Given the description of an element on the screen output the (x, y) to click on. 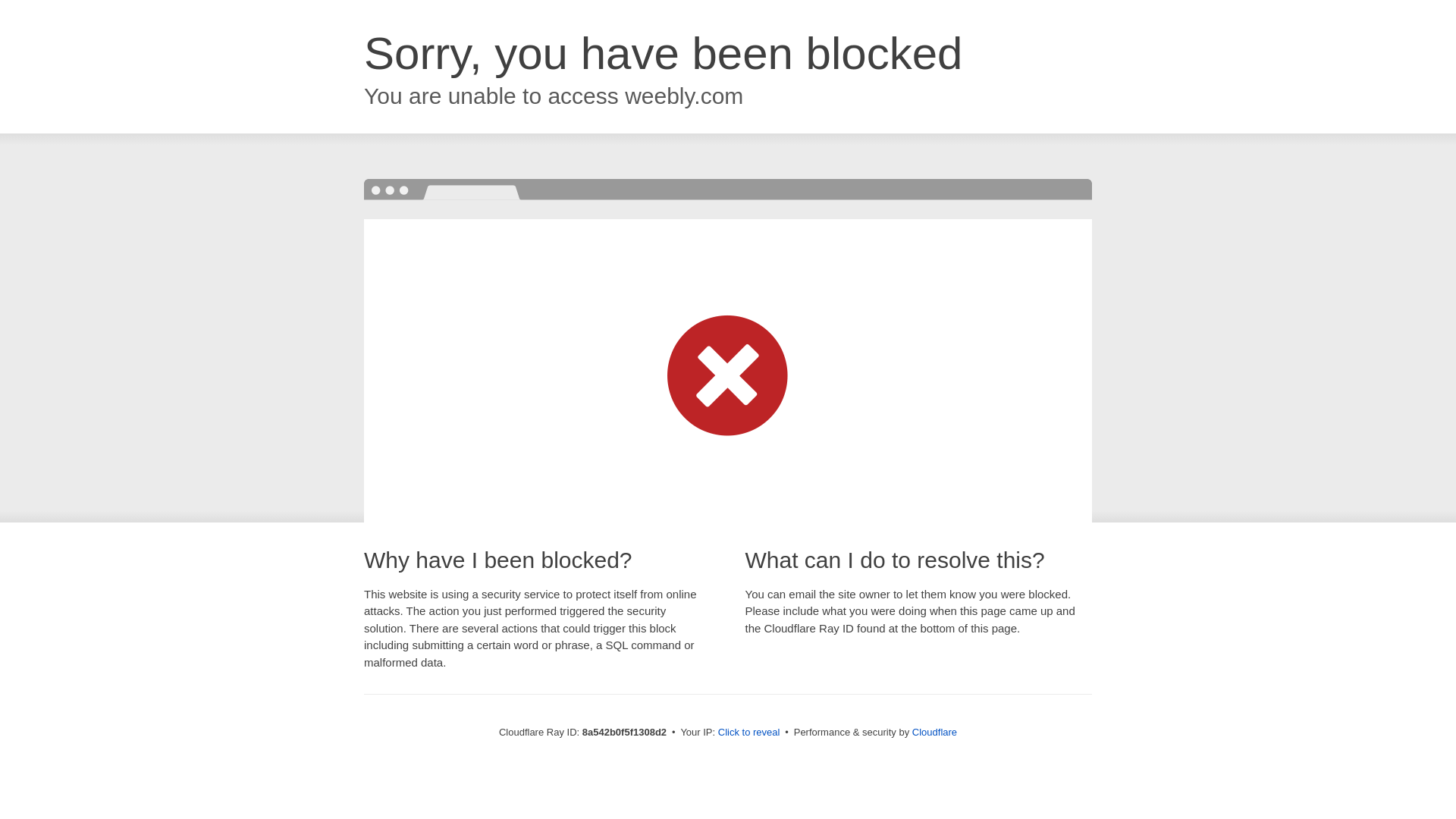
Click to reveal (748, 732)
Cloudflare (934, 731)
